Given the description of an element on the screen output the (x, y) to click on. 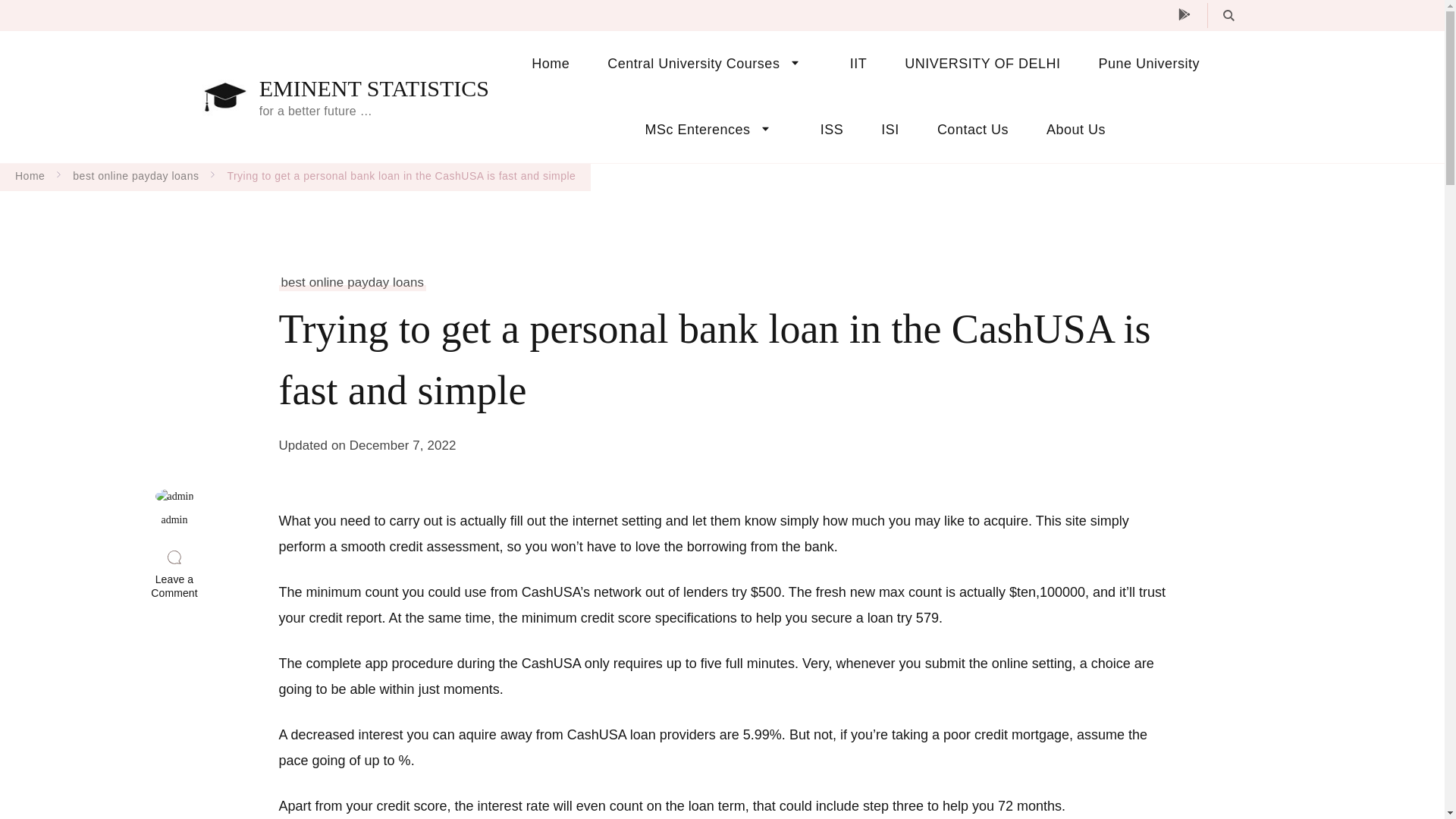
MSc Enterences (713, 129)
Central University Courses (708, 64)
Contact Us (972, 129)
ISS (832, 129)
Home (550, 64)
IIT (858, 64)
Pune University (1150, 64)
EMINENT STATISTICS (374, 89)
About Us (1066, 129)
ISI (889, 129)
UNIVERSITY OF DELHI (981, 64)
